Given the description of an element on the screen output the (x, y) to click on. 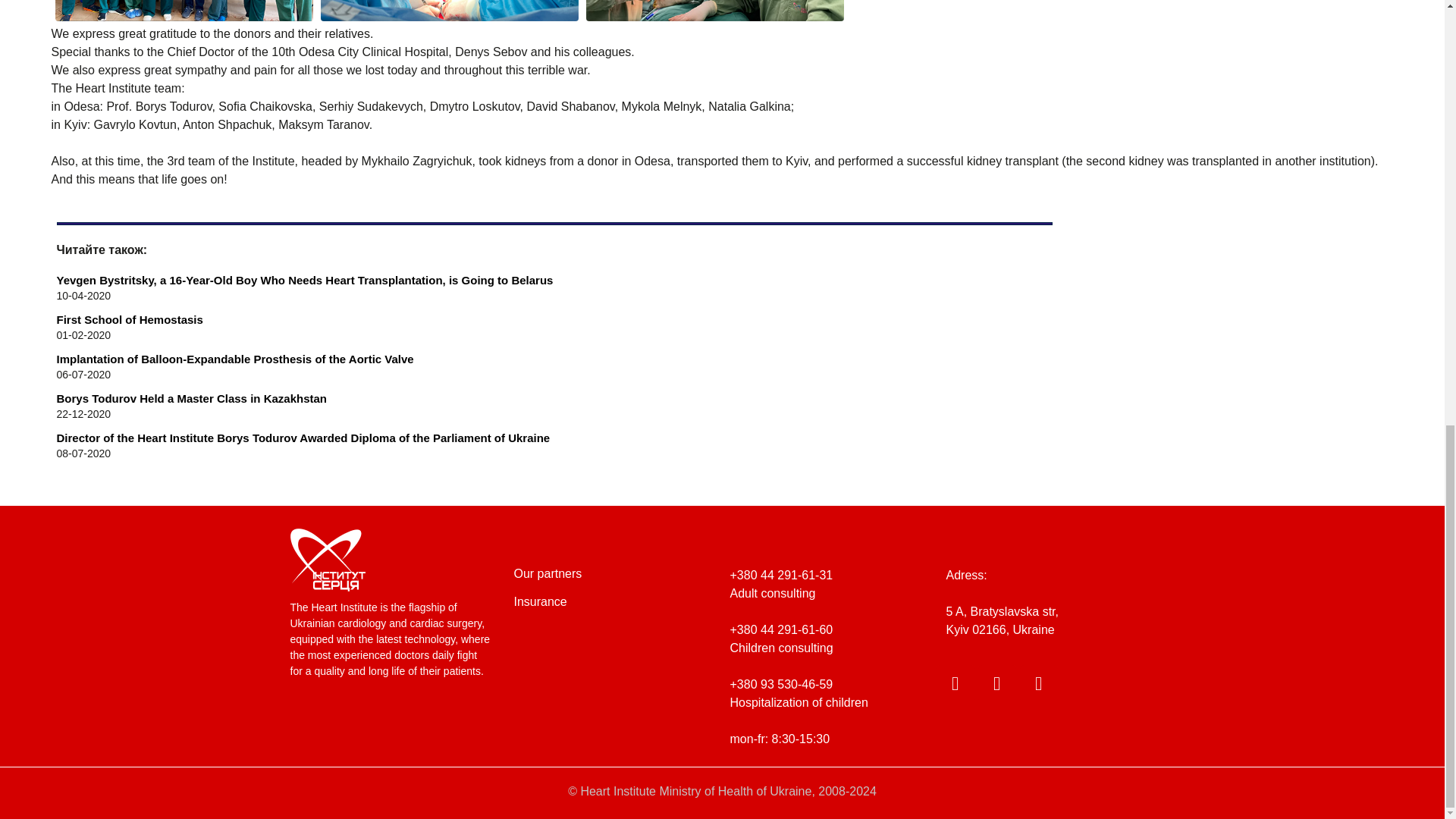
First School of Hemostasis (554, 319)
Borys Todurov Held a Master Class in Kazakhstan (554, 398)
